Given the description of an element on the screen output the (x, y) to click on. 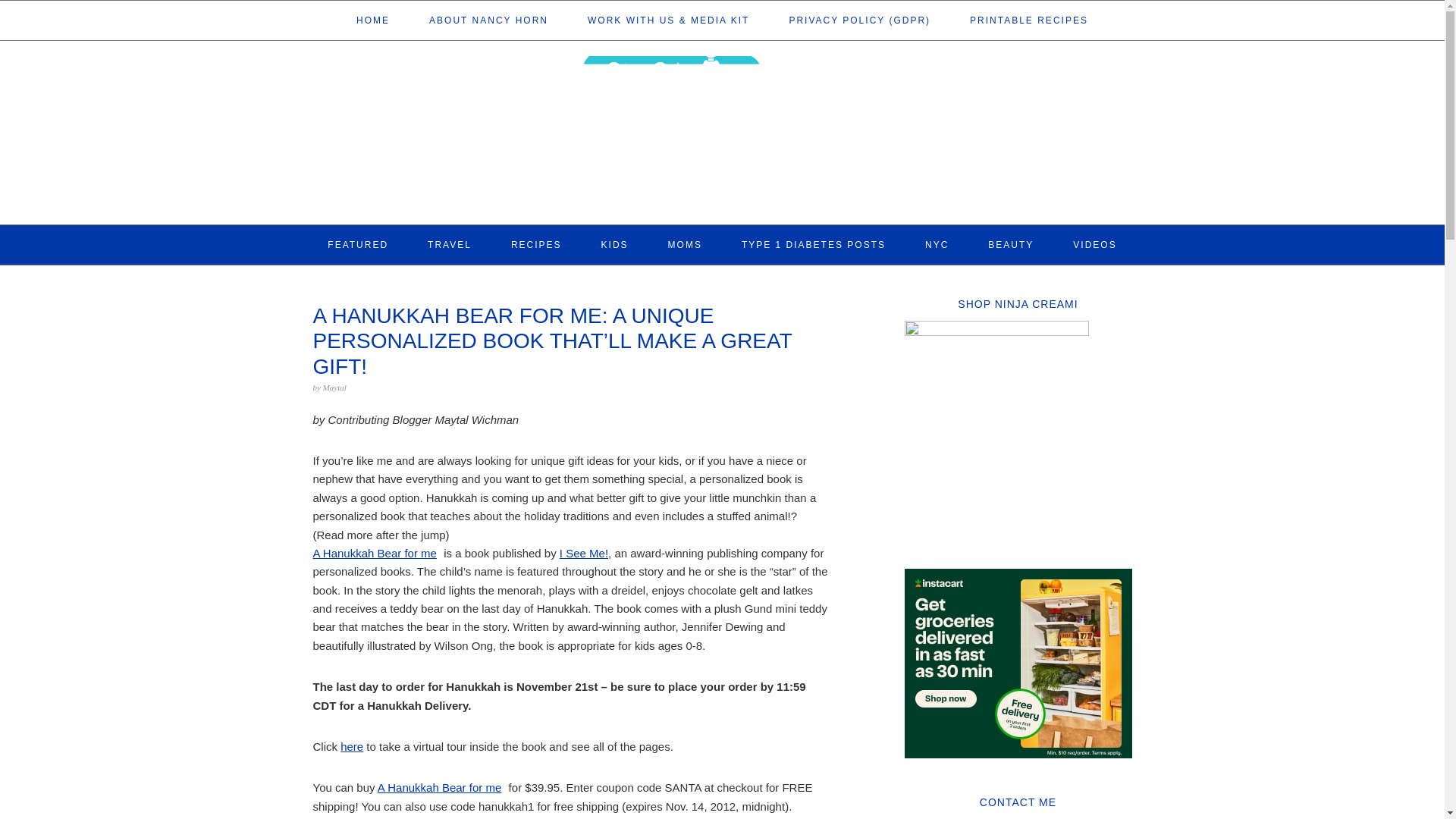
NYC (936, 244)
HOME (373, 20)
BEAUTY (1010, 244)
TYPE 1 DIABETES POSTS (813, 244)
A Hanukkah Bear for me (438, 787)
ABOUT NANCY HORN (488, 20)
Maytal (334, 387)
I See Me! (583, 553)
TRAVEL (449, 244)
MOMS (684, 244)
A Hanukkah Bear for me (380, 562)
here (351, 746)
PRINTABLE RECIPES (1028, 20)
VIDEOS (1094, 244)
